Given the description of an element on the screen output the (x, y) to click on. 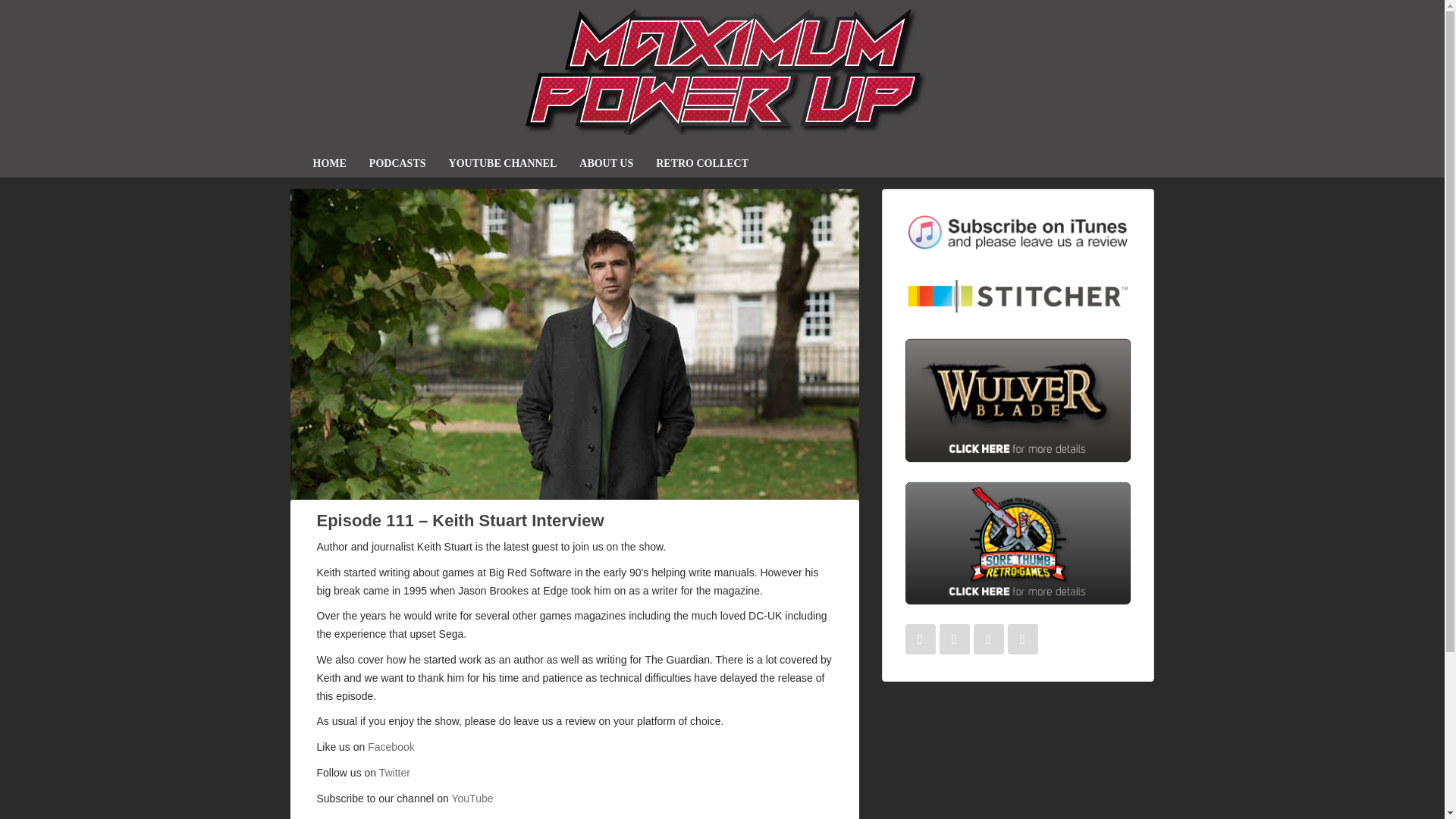
Facebook Page (390, 746)
Home (329, 163)
YouTube (472, 798)
HOME (329, 163)
Facebook (390, 746)
Twitter (394, 772)
YouTube Channel (503, 163)
Retro Collect (702, 163)
Podcasts (398, 163)
Follow us on Twitter (954, 639)
